Given the description of an element on the screen output the (x, y) to click on. 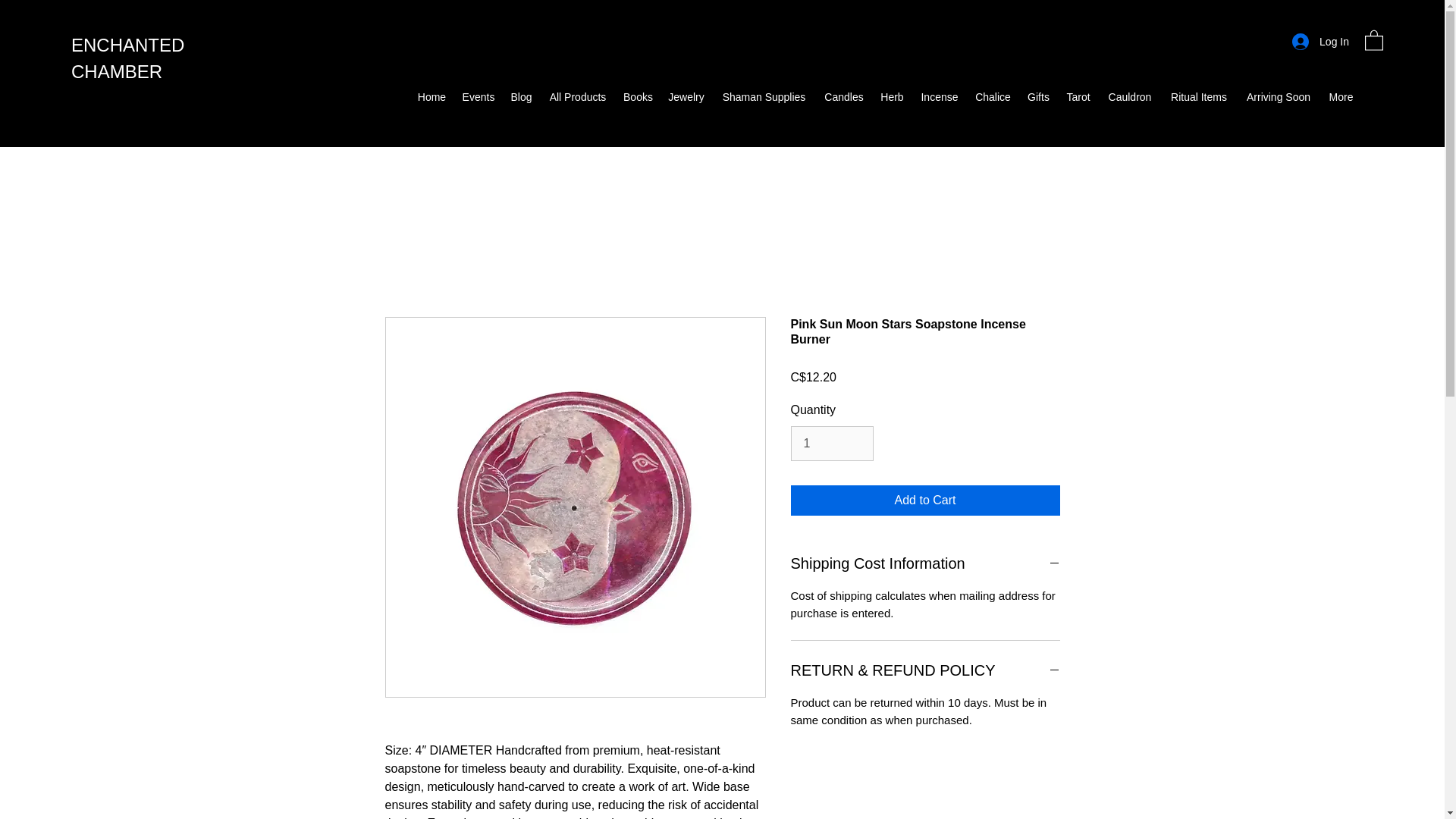
ENCHANTED CHAMBER (127, 58)
Cauldron (1129, 97)
Shipping Cost Information (924, 563)
Log In (1320, 41)
Ritual Items (1198, 97)
Add to Cart (924, 500)
1 (831, 443)
All Products (577, 97)
Arriving Soon (1278, 97)
Shaman Supplies (763, 97)
